Given the description of an element on the screen output the (x, y) to click on. 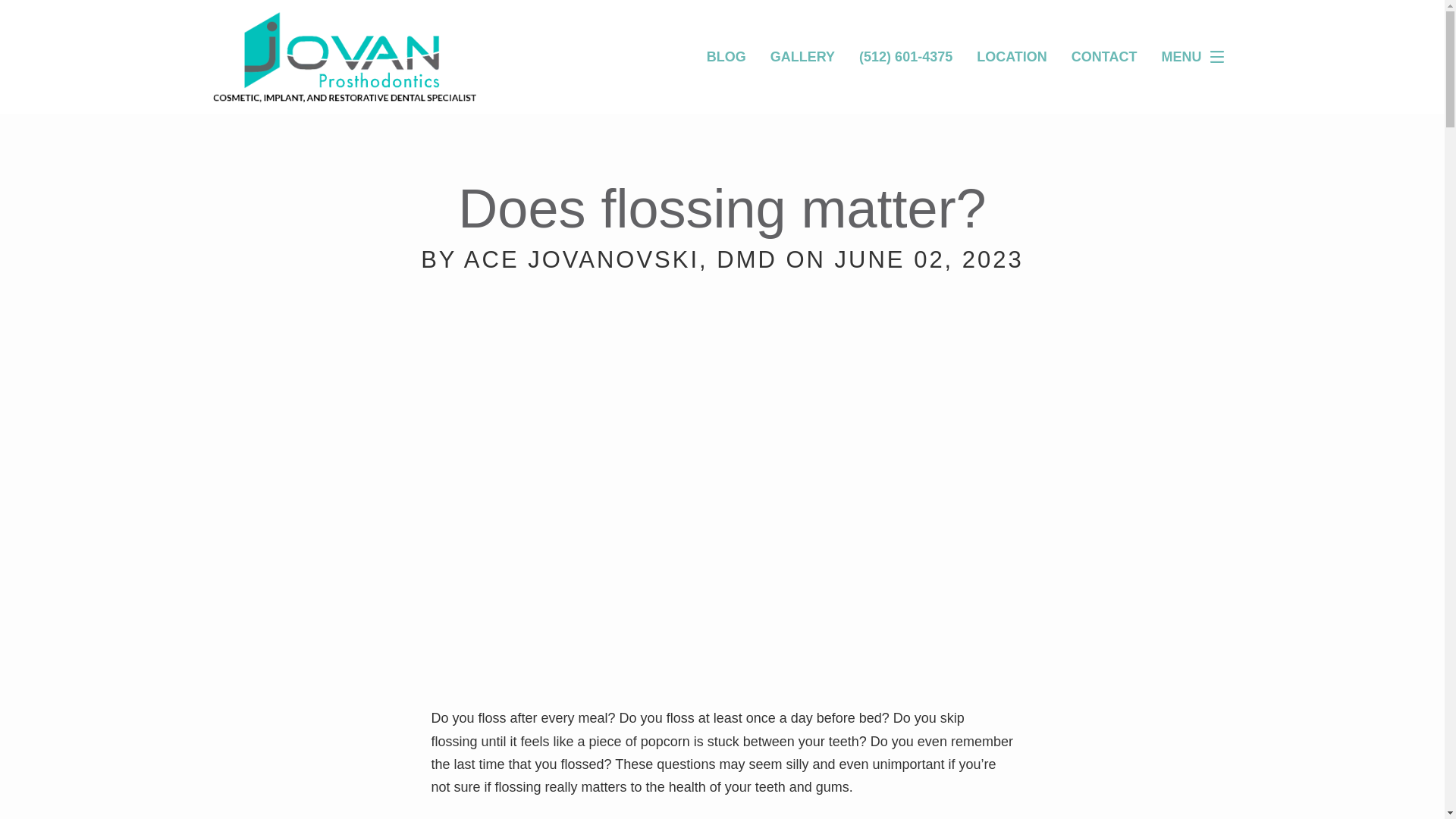
CONTACT (1104, 56)
GALLERY (802, 56)
MENU (1196, 56)
BLOG (725, 56)
LOCATION (1011, 56)
